Given the description of an element on the screen output the (x, y) to click on. 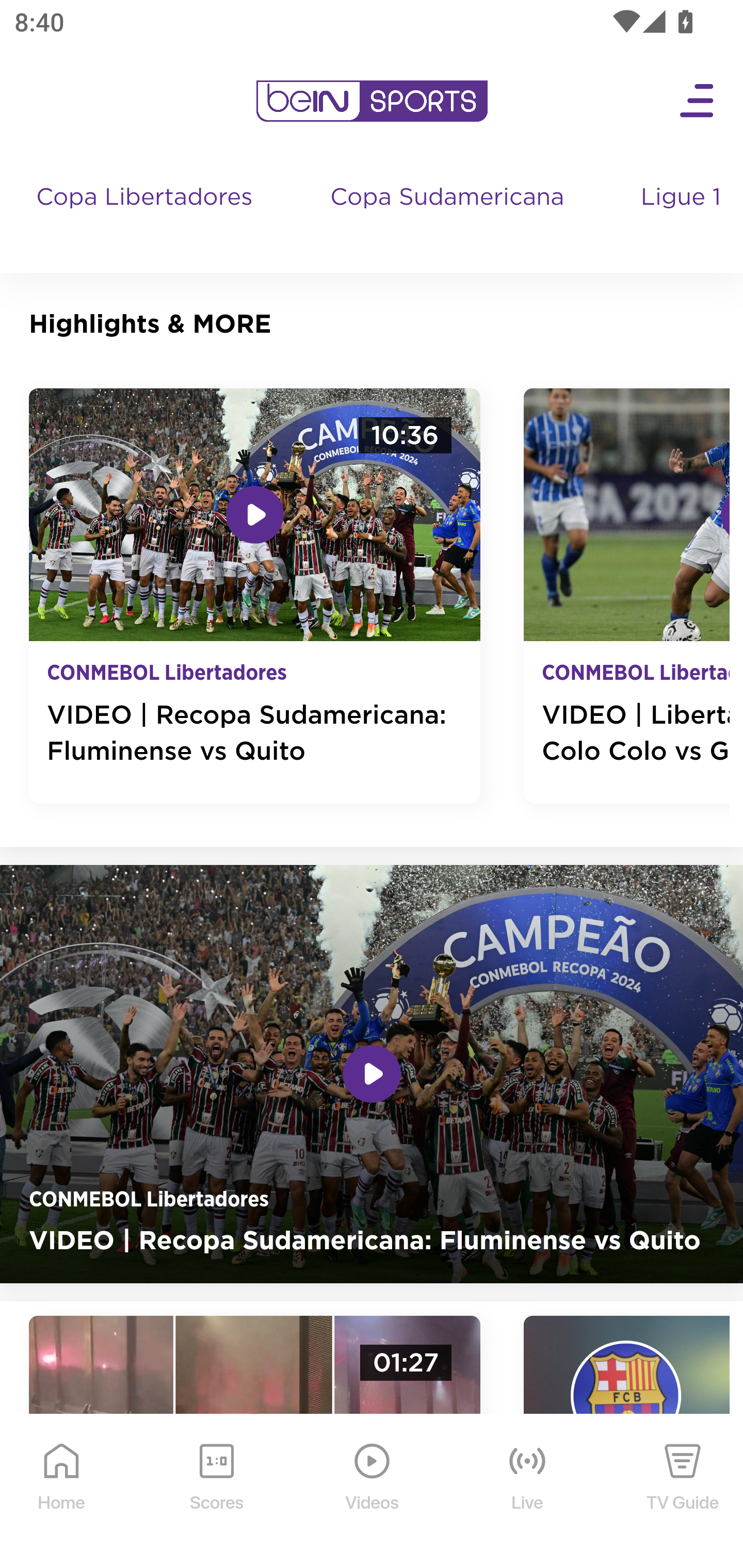
en-us?platform=mobile_android bein logo (371, 101)
Open Menu Icon (697, 101)
Copa Libertadores (146, 216)
Copa Sudamericana (448, 216)
Ligue 1 (682, 216)
Home Home Icon Home (61, 1491)
Scores Scores Icon Scores (216, 1491)
Videos Videos Icon Videos (372, 1491)
TV Guide TV Guide Icon TV Guide (682, 1491)
